Given the description of an element on the screen output the (x, y) to click on. 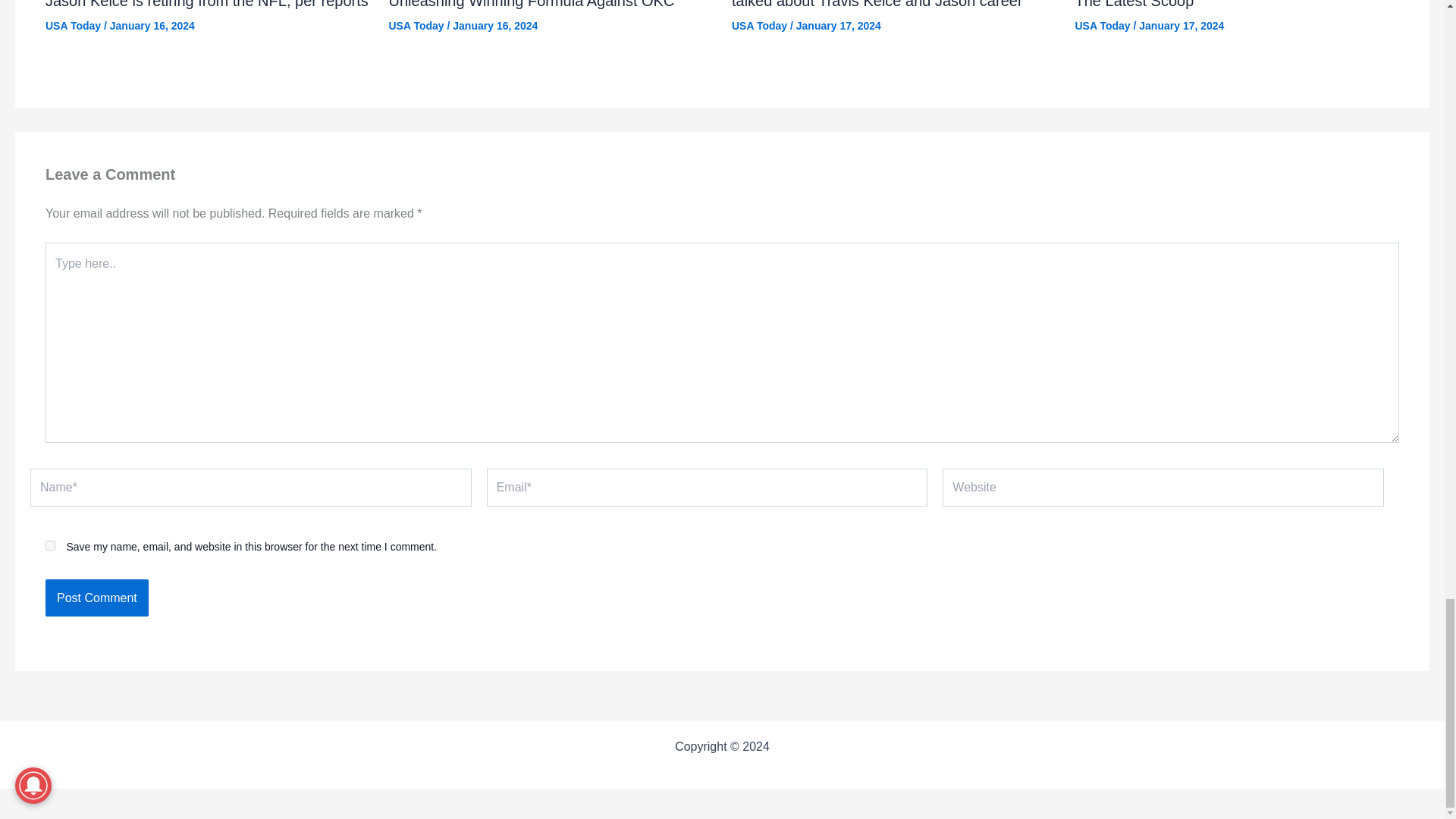
USA Today (759, 25)
USA Today (1103, 25)
Post Comment (96, 598)
USA Today (72, 25)
USA Today (416, 25)
yes (50, 545)
